Given the description of an element on the screen output the (x, y) to click on. 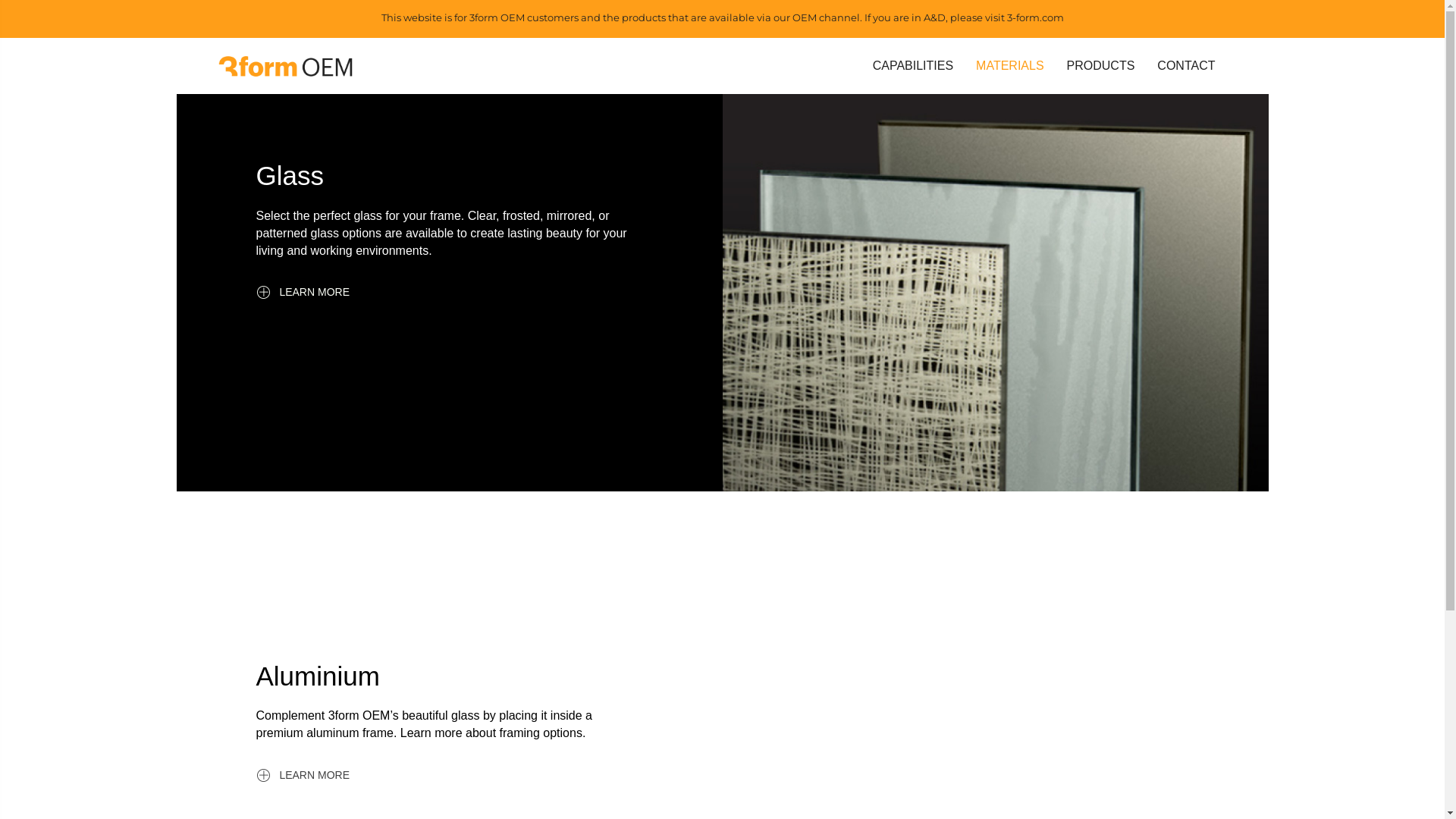
PRODUCTS Element type: text (1100, 65)
LEARN MORE Element type: text (303, 291)
3-form.com Element type: text (1035, 17)
CONTACT Element type: text (1185, 65)
LEARN MORE Element type: text (303, 774)
MATERIALS Element type: text (1009, 65)
3form-oem-logo Element type: hover (285, 65)
CAPABILITIES Element type: text (912, 65)
